Given the description of an element on the screen output the (x, y) to click on. 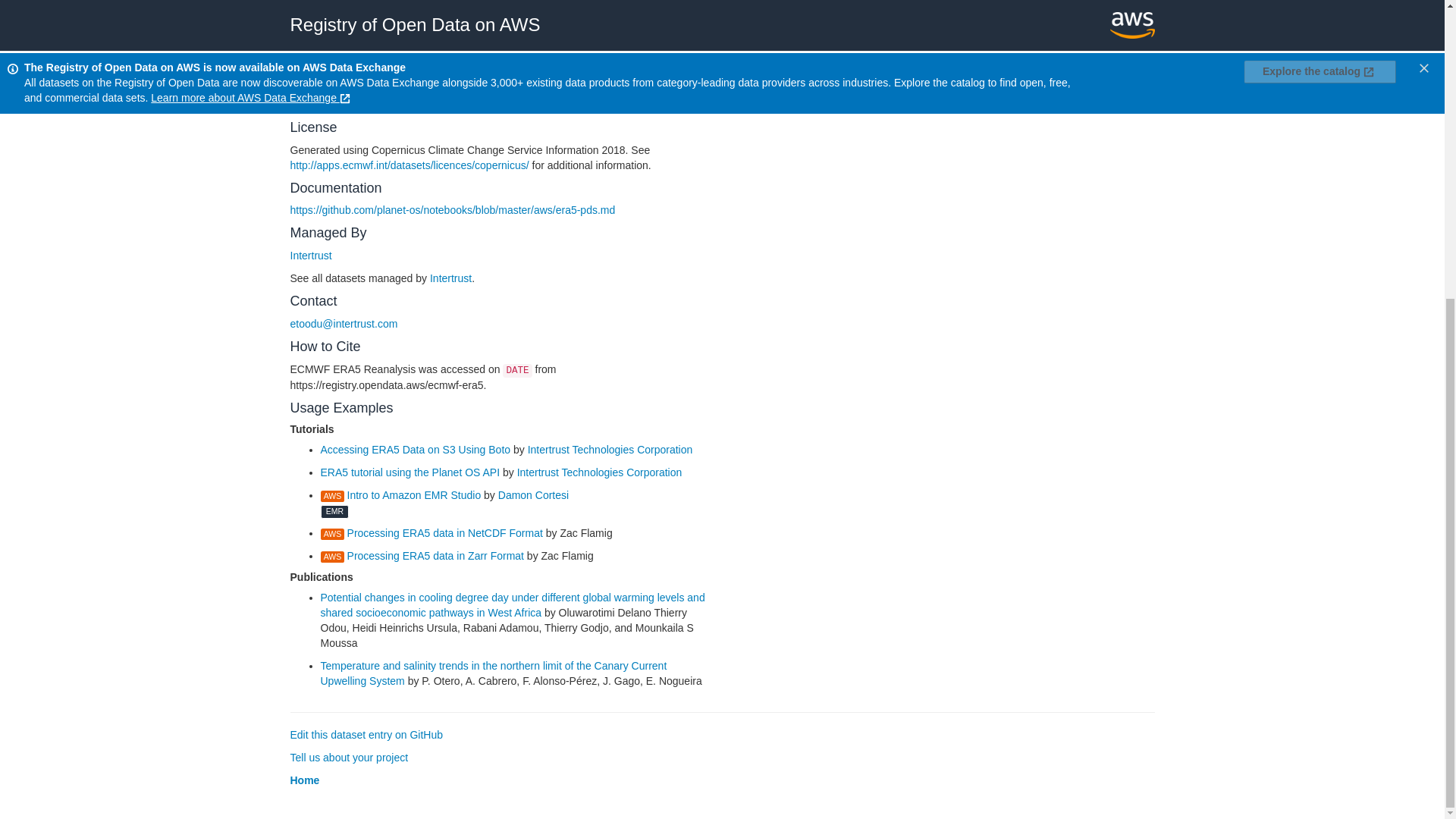
Intertrust (450, 277)
Accessing ERA5 Data on S3 Using Boto (415, 449)
Damon Cortesi (533, 494)
Intertrust Technologies Corporation (610, 449)
Processing ERA5 data in Zarr Format (421, 555)
ERA5 tutorial using the Planet OS API (409, 472)
Processing ERA5 data in NetCDF Format (430, 532)
Intertrust (310, 255)
Intro to Amazon EMR Studio (400, 494)
ERA5: The new champion of wind power modelling? (496, 51)
Tell us about your project (348, 757)
Intertrust Technologies Corporation (599, 472)
Edit this dataset entry on GitHub (365, 734)
